Given the description of an element on the screen output the (x, y) to click on. 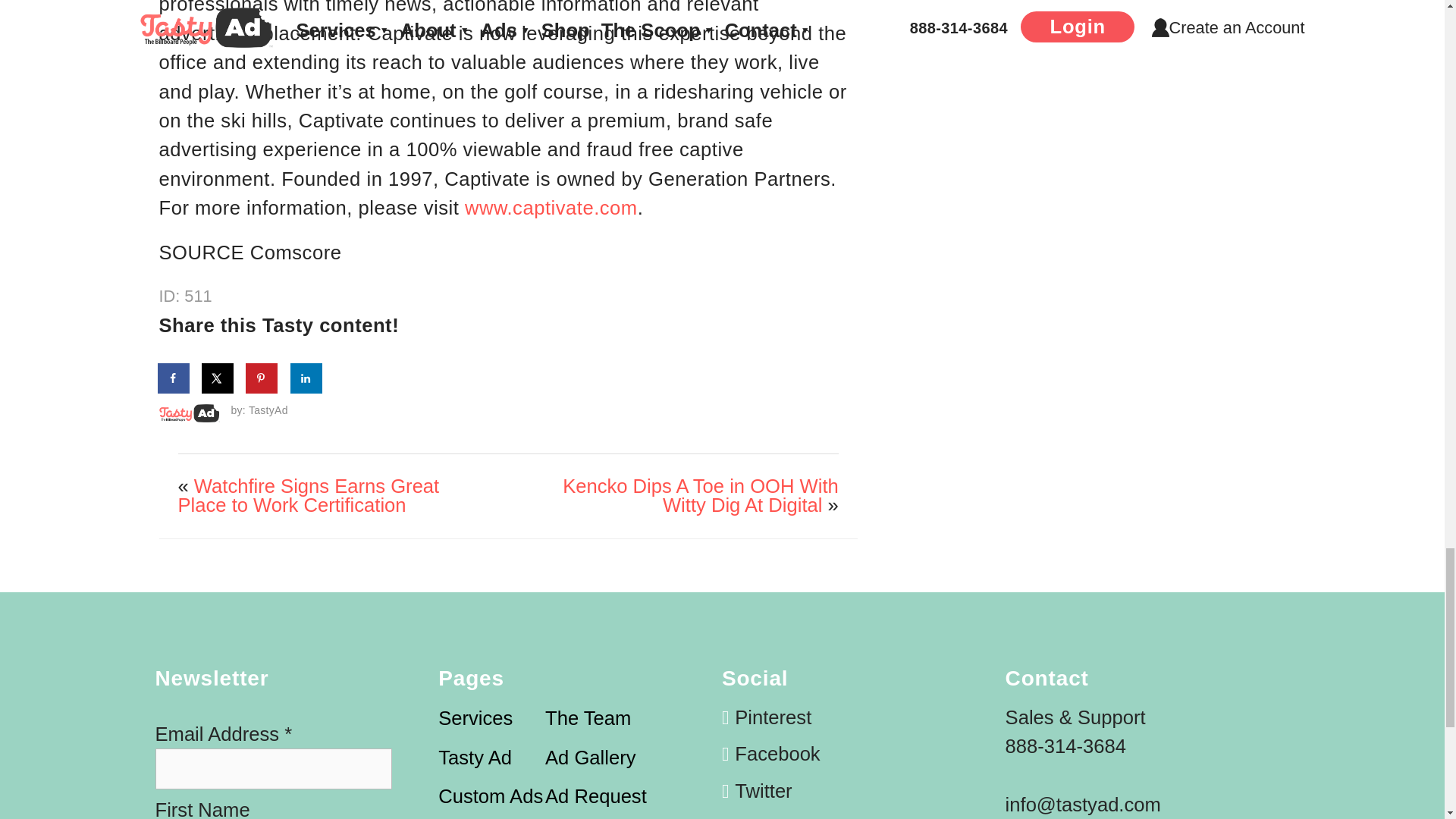
Share on LinkedIn (306, 378)
Save to Pinterest (262, 378)
Share on X (217, 378)
Share on Facebook (173, 378)
